Given the description of an element on the screen output the (x, y) to click on. 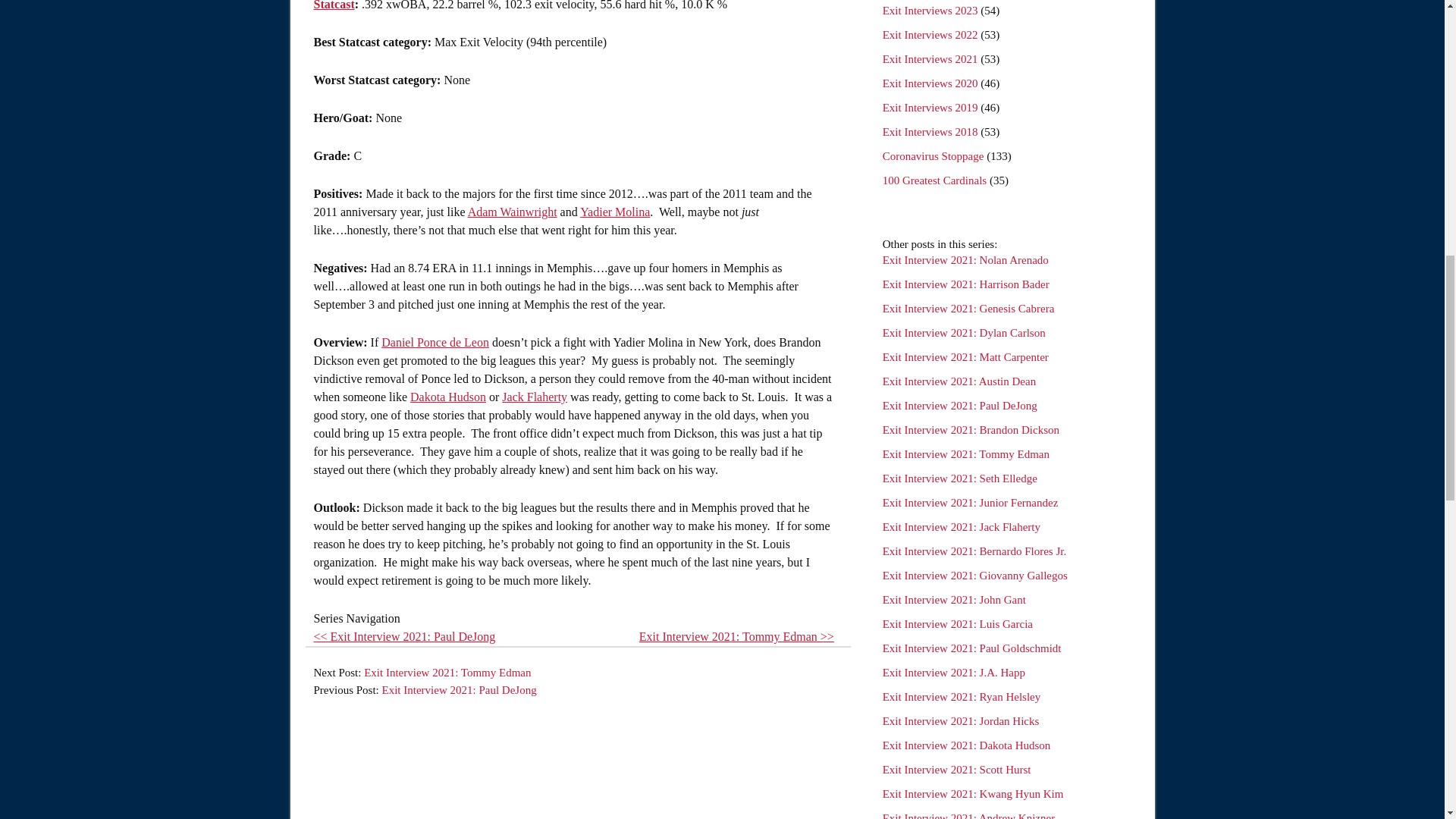
Exit Interview 2021: Brandon Dickson (970, 429)
Exit Interview 2021: Nolan Arenado (965, 259)
Exit Interview 2021: Matt Carpenter (965, 357)
Exit Interview 2021: Harrison Bader (965, 284)
Exit Interview 2021: Tommy Edman (965, 453)
Exit Interview 2021: Paul DeJong (959, 405)
Exit Interview 2021: Dylan Carlson (963, 332)
Exit Interview 2021: Austin Dean (958, 381)
Exit Interview 2021: Genesis Cabrera (968, 308)
